Given the description of an element on the screen output the (x, y) to click on. 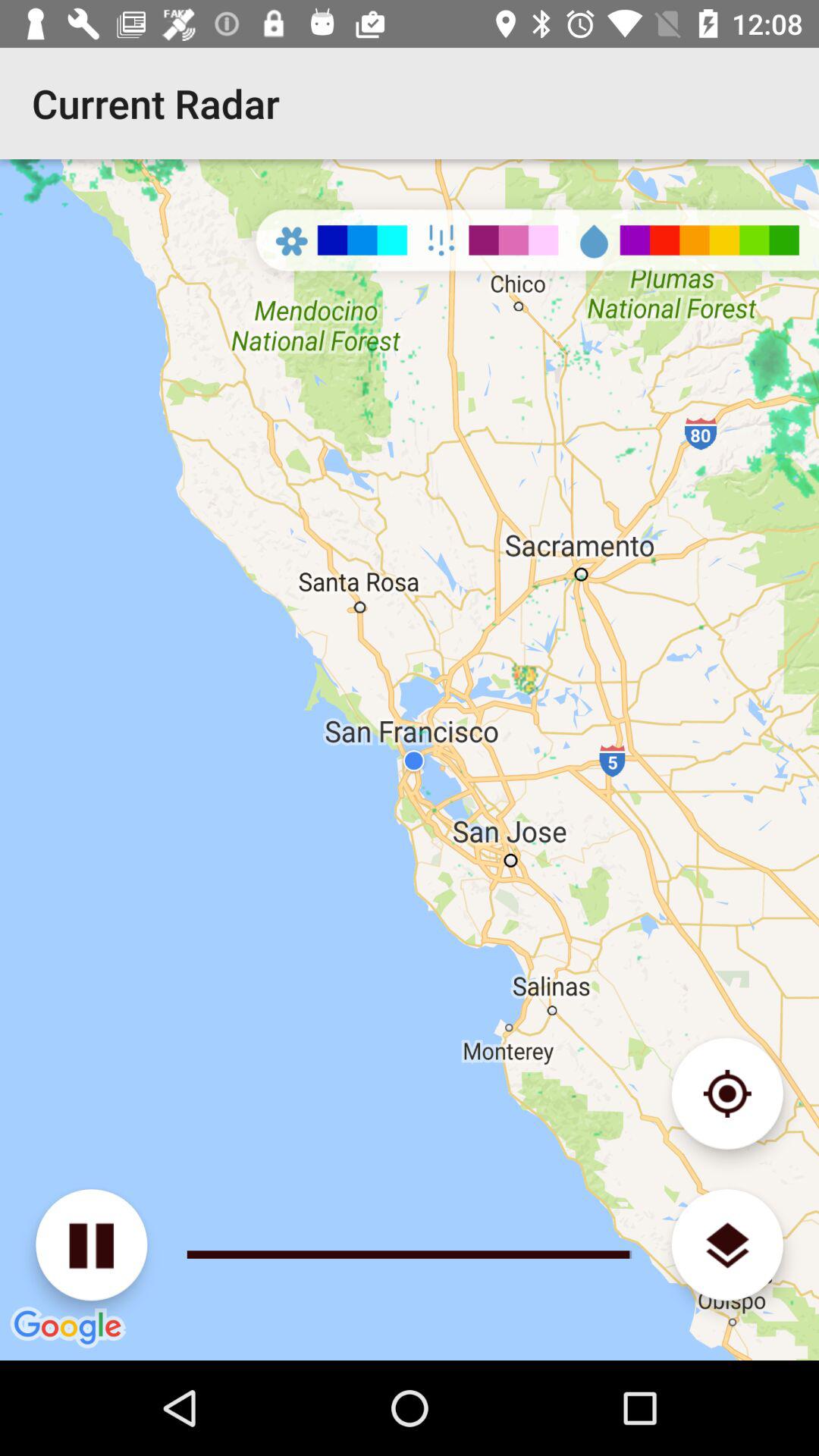
pause radar (91, 1244)
